Given the description of an element on the screen output the (x, y) to click on. 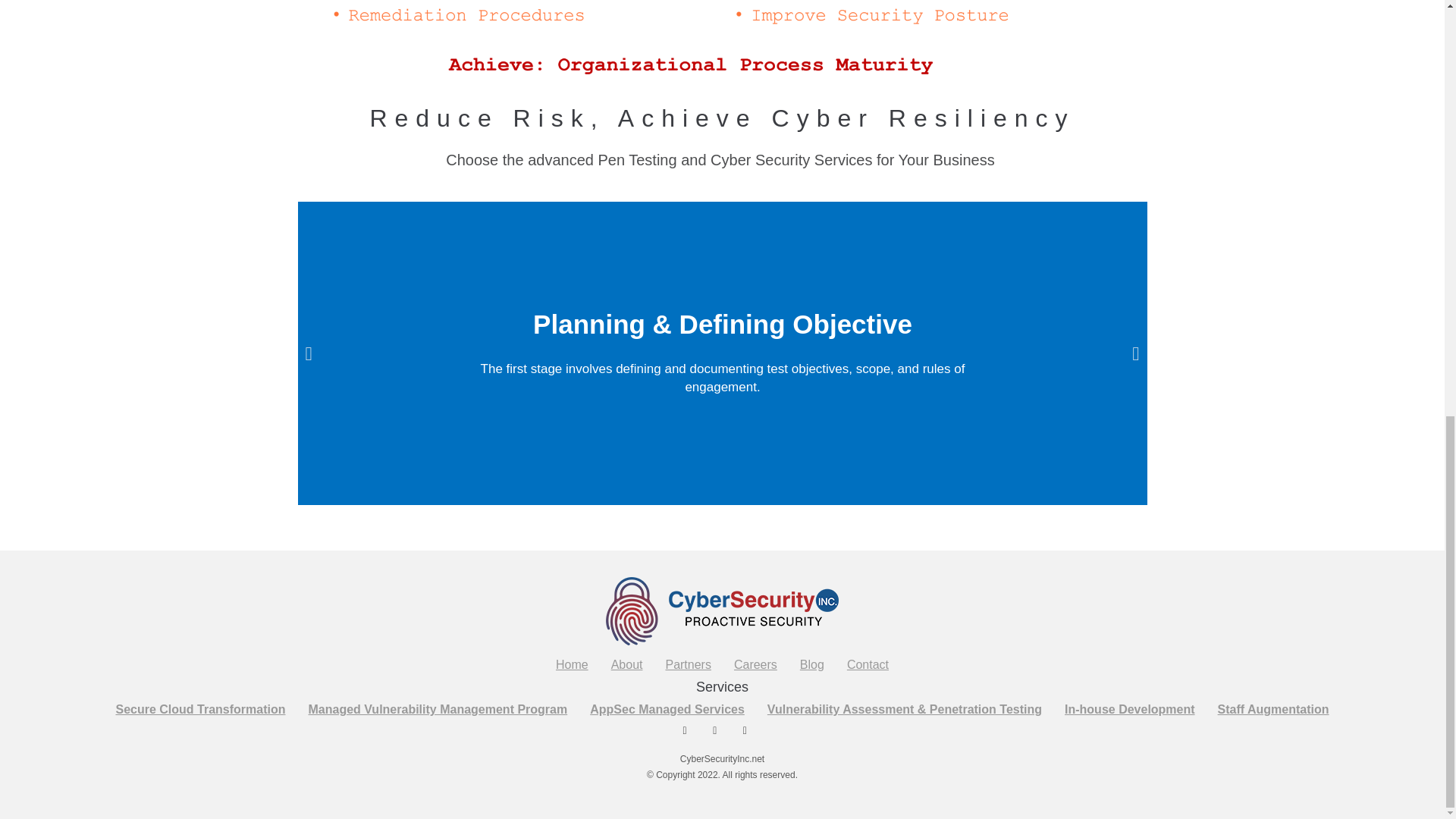
In-house Development (1129, 709)
Staff Augmentation (1273, 709)
Partners (687, 664)
Managed Vulnerability Management Program (438, 709)
Home (571, 664)
Secure Cloud Transformation (200, 709)
About (626, 664)
AppSec Managed Services (666, 709)
Careers (755, 664)
Contact (867, 664)
